Given the description of an element on the screen output the (x, y) to click on. 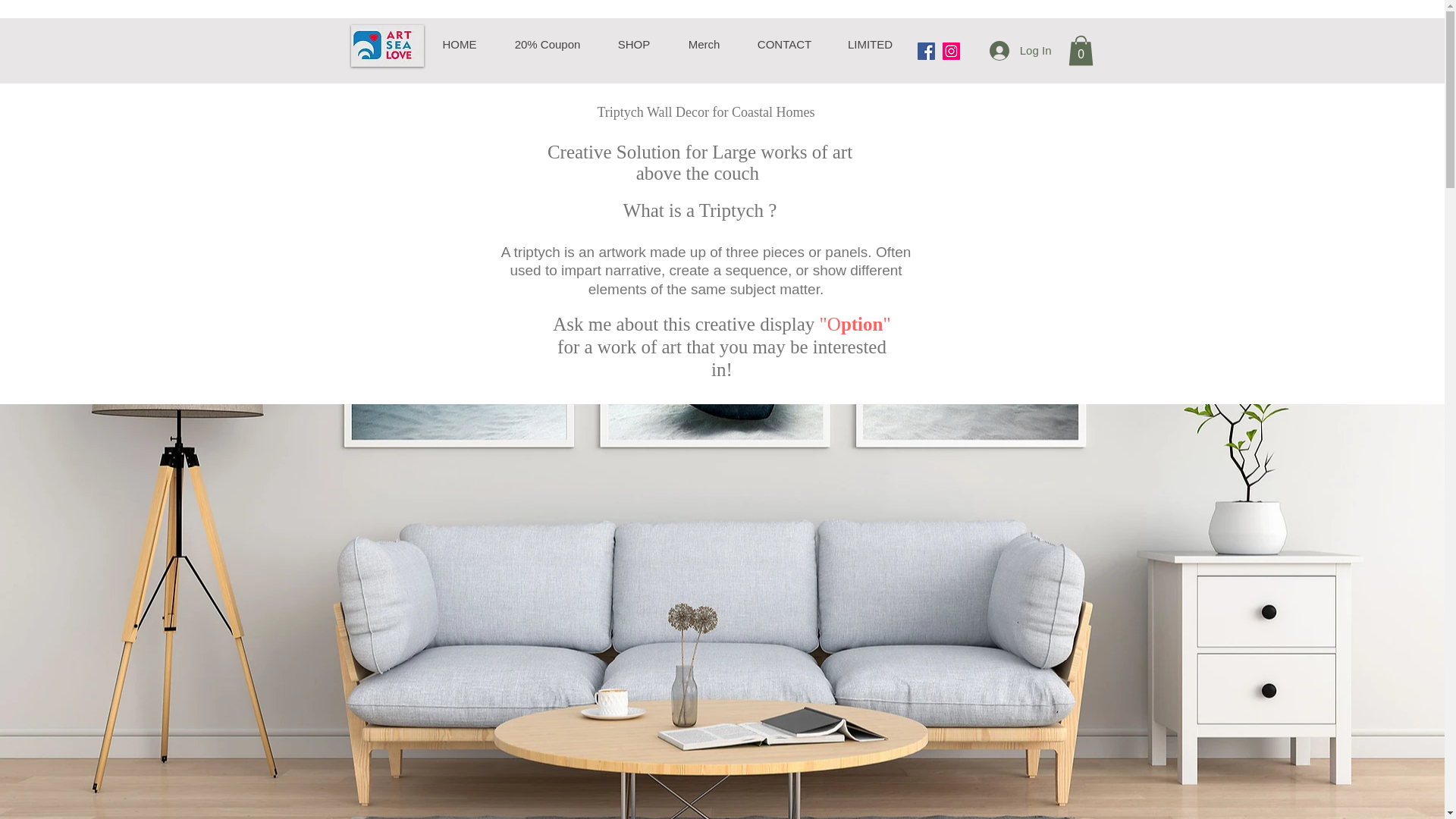
Log In (1020, 50)
HOME (459, 44)
CONTACT (783, 44)
